Given the description of an element on the screen output the (x, y) to click on. 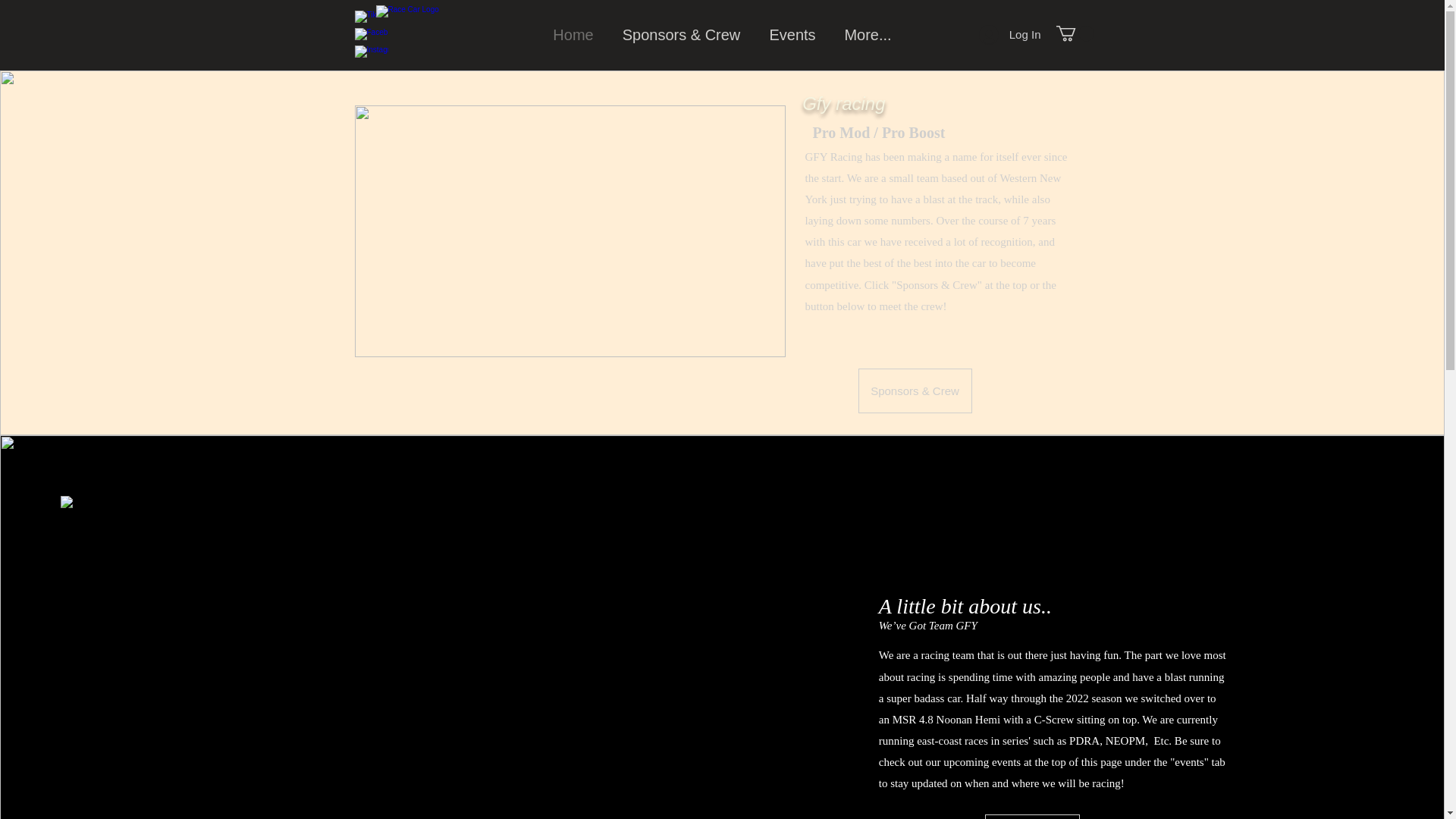
Events (792, 35)
Log In (1009, 34)
Events (1032, 816)
Home (572, 35)
